Given the description of an element on the screen output the (x, y) to click on. 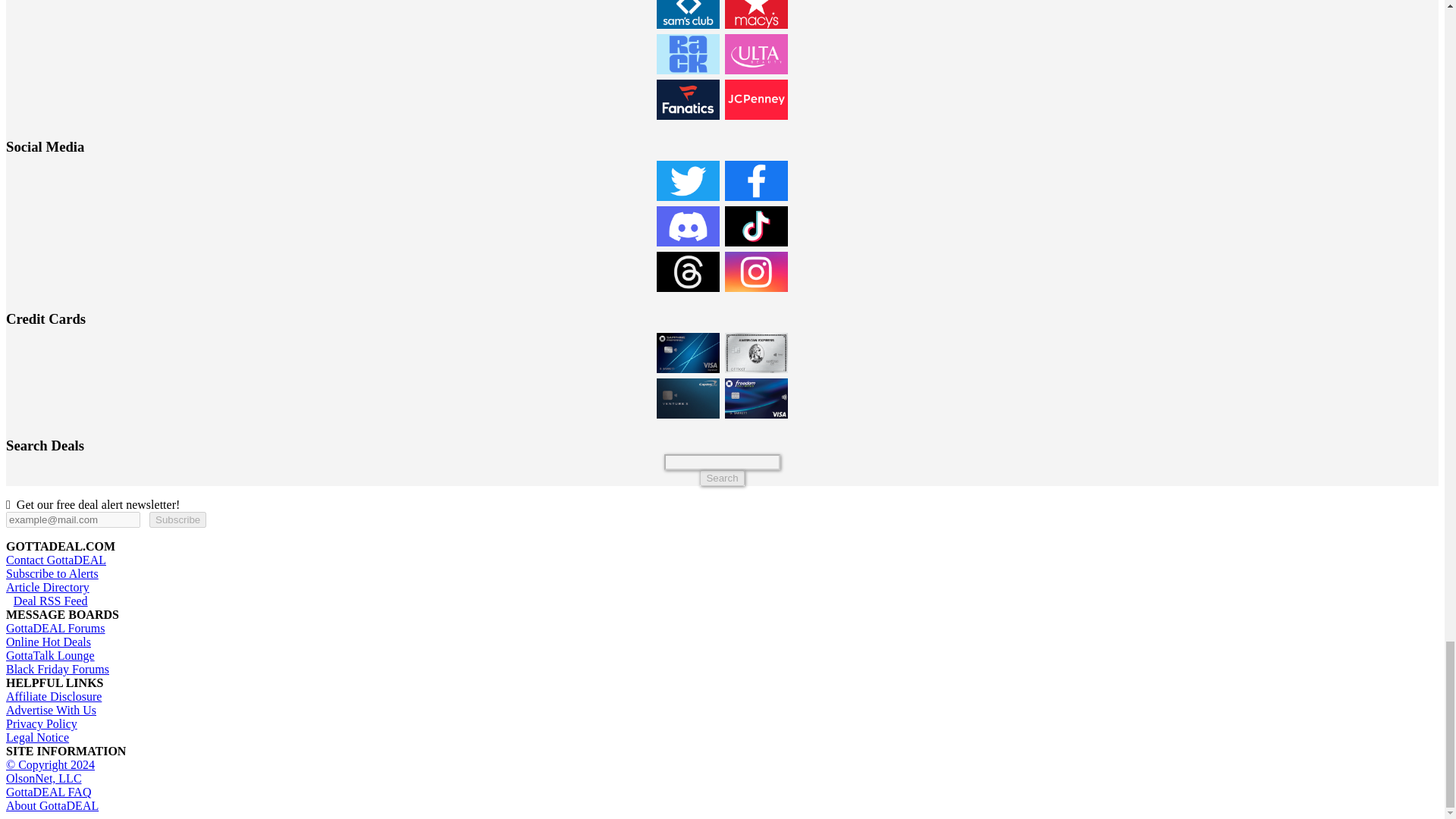
Subscribe (177, 519)
